Given the description of an element on the screen output the (x, y) to click on. 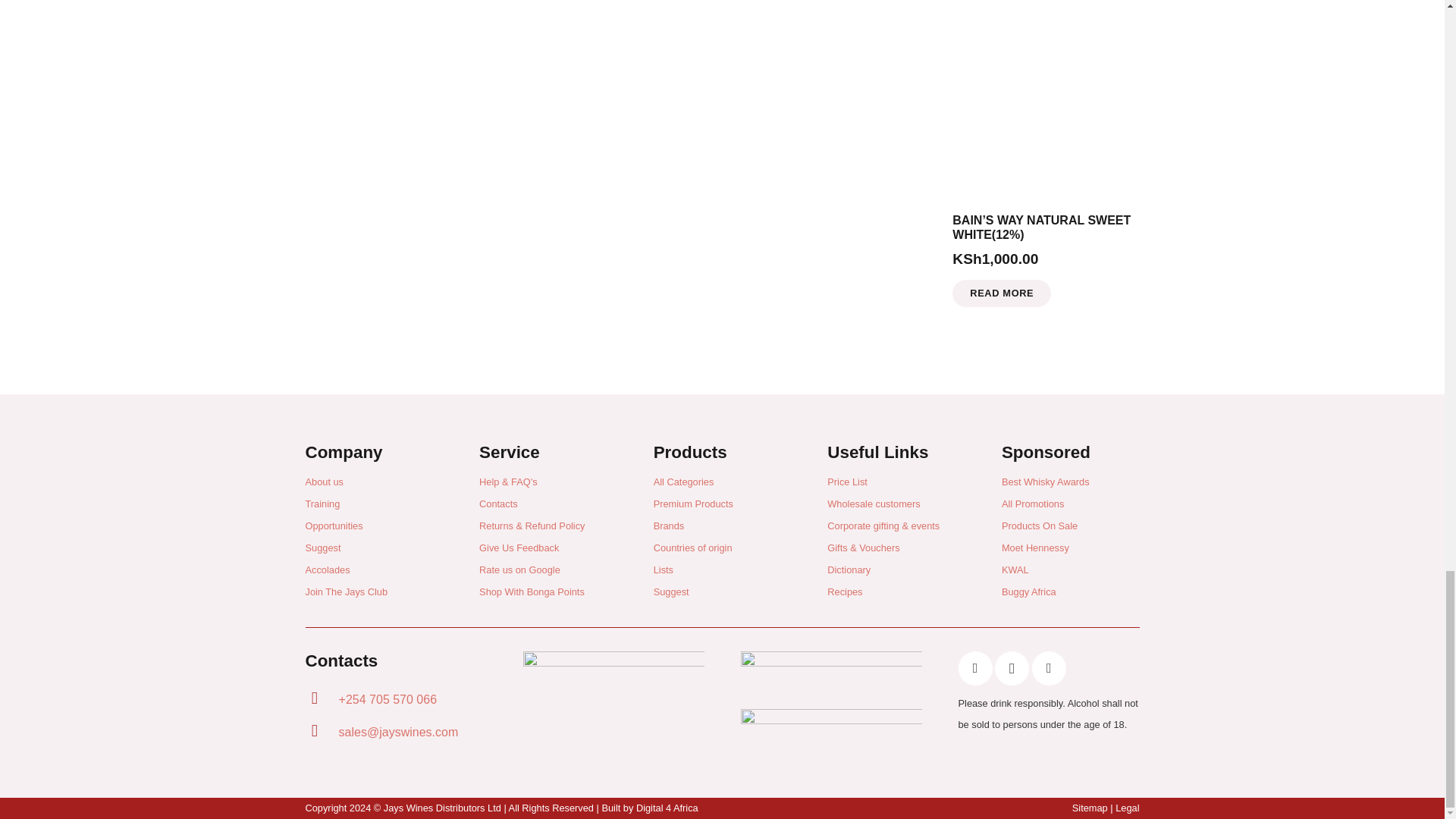
Twitter (1048, 668)
Instagram (1011, 668)
Facebook (975, 668)
